Given the description of an element on the screen output the (x, y) to click on. 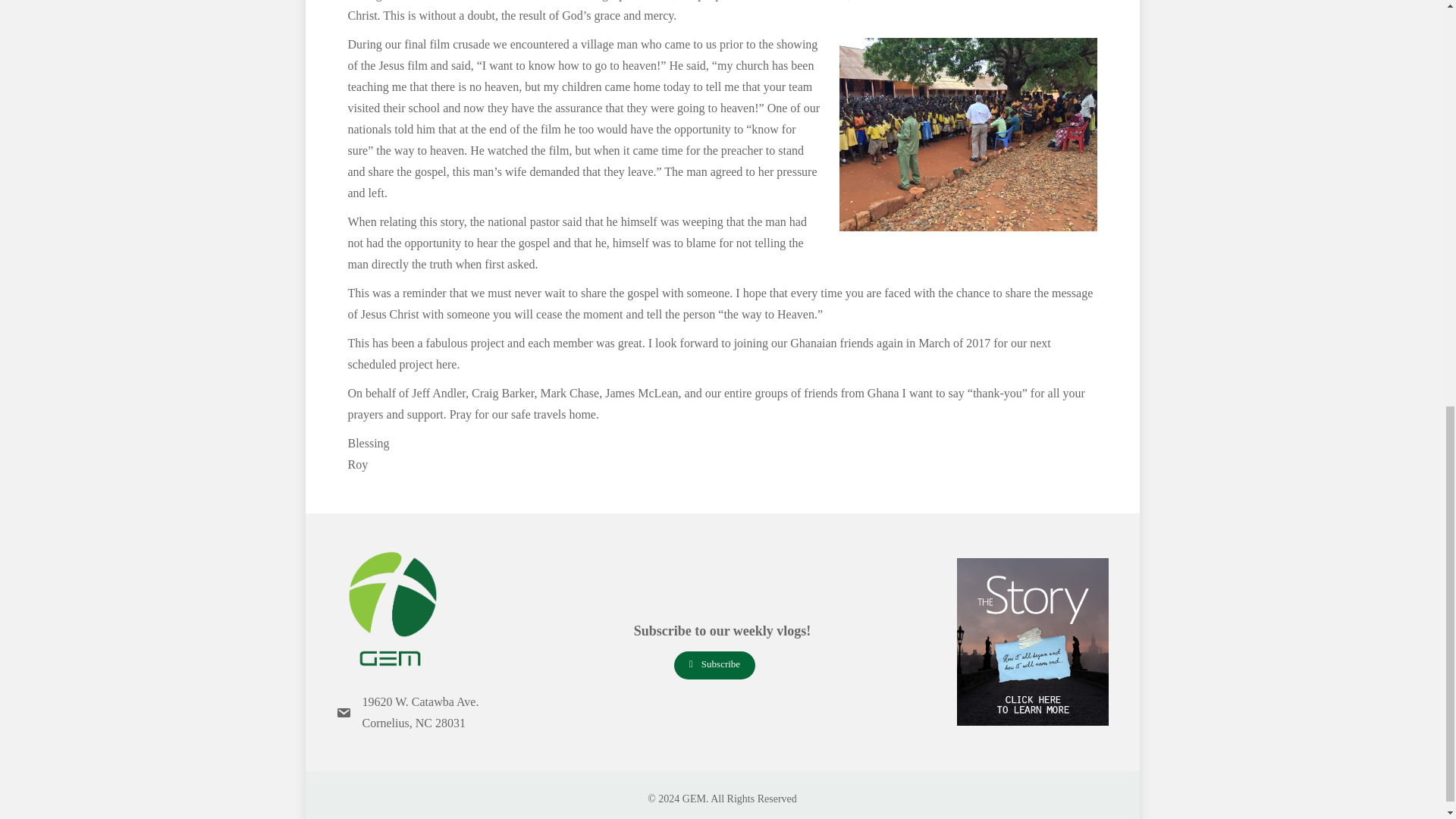
Subscribe (714, 665)
the-story (1032, 641)
